Given the description of an element on the screen output the (x, y) to click on. 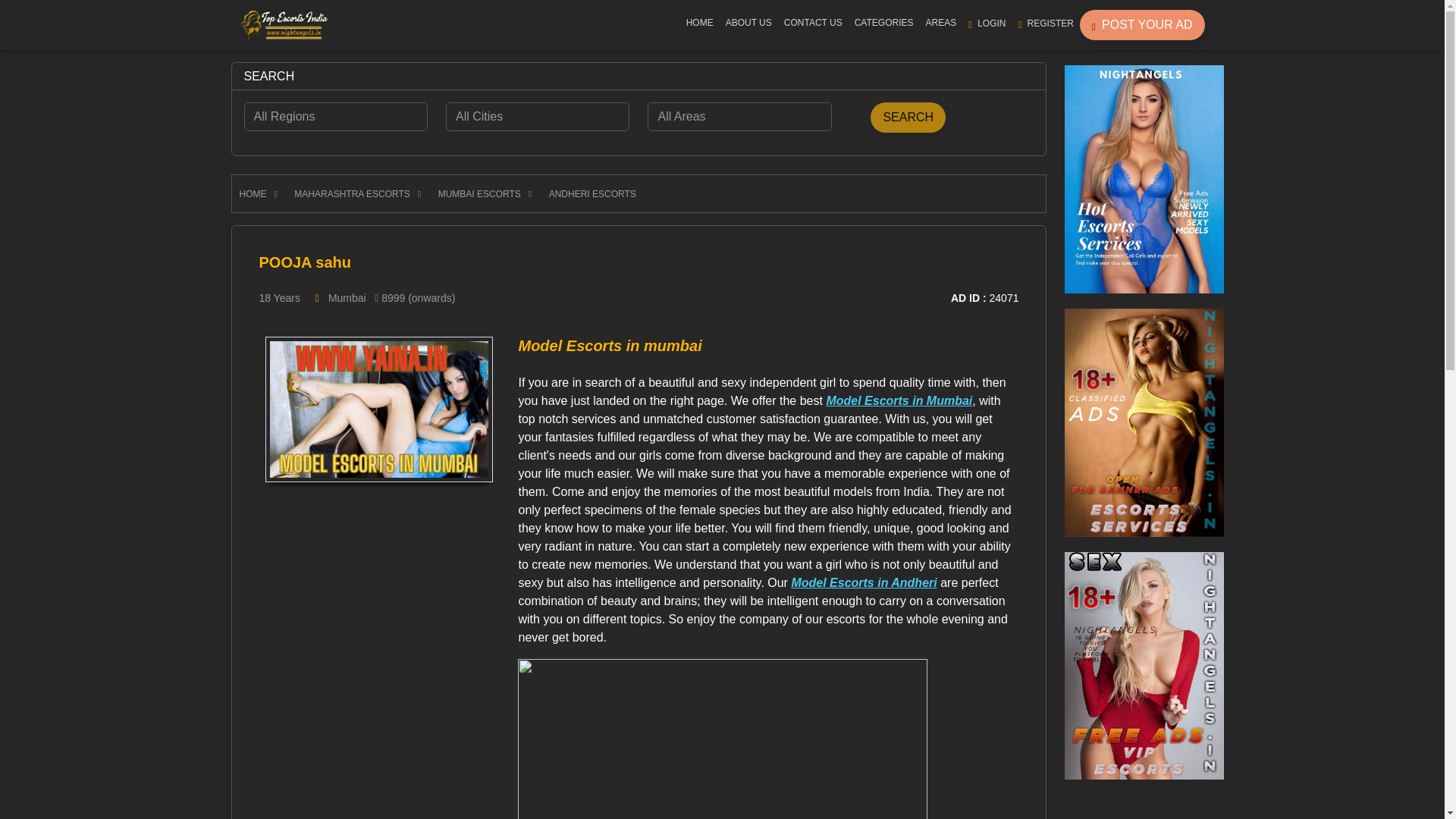
CONTACT US (812, 22)
Search (907, 117)
LOGIN (986, 22)
CATEGORIES (884, 22)
HOME (259, 194)
Model Escorts in Andheri (863, 582)
POST YOUR AD (1142, 24)
ANDHERI ESCORTS (595, 194)
Model Mumbai Escorts (722, 772)
HOME (699, 22)
Search (907, 117)
ABOUT US (748, 22)
REGISTER (1045, 22)
AREAS (940, 22)
MUMBAI ESCORTS (485, 194)
